Given the description of an element on the screen output the (x, y) to click on. 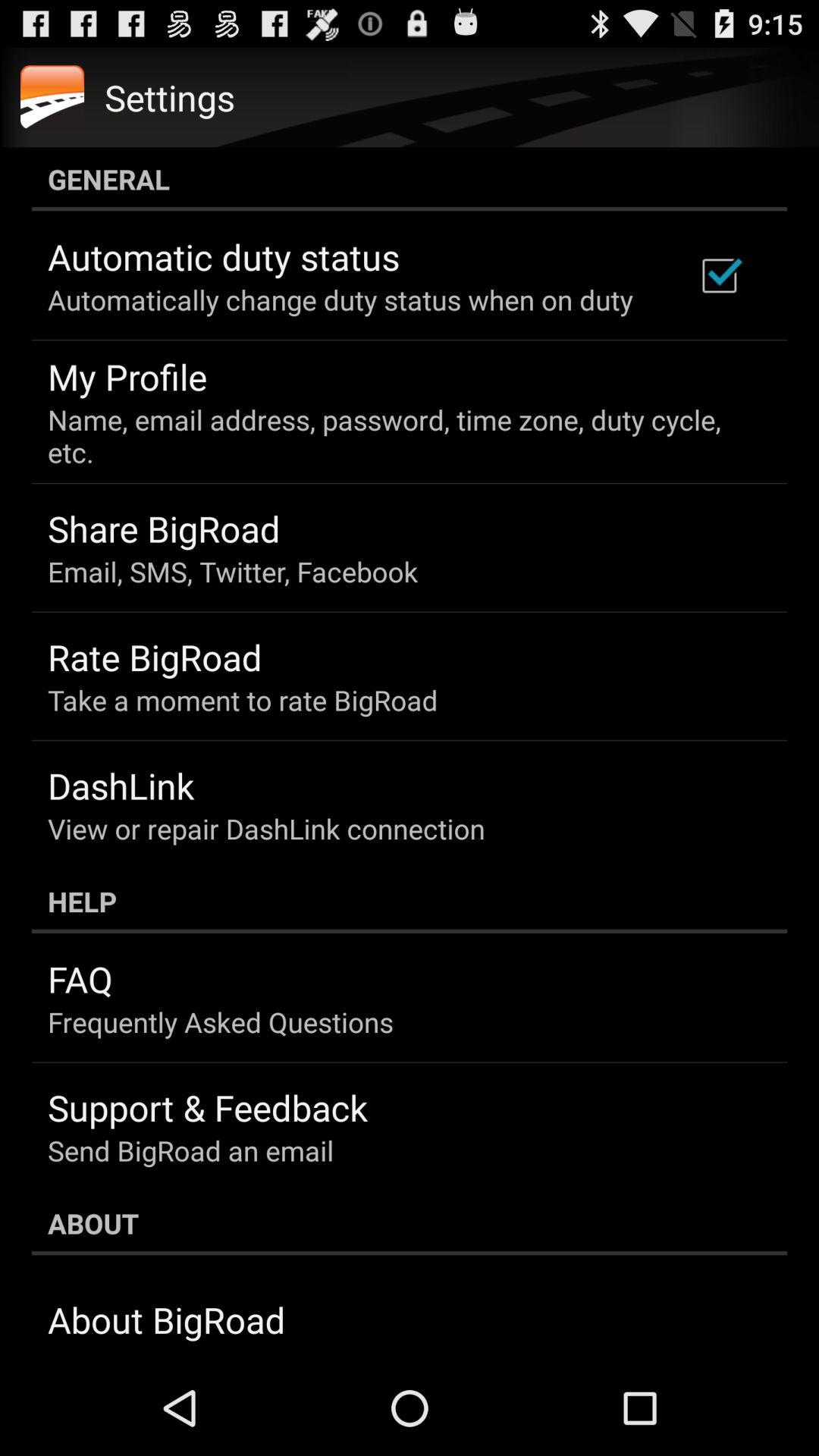
select share bigroad icon (163, 528)
